Given the description of an element on the screen output the (x, y) to click on. 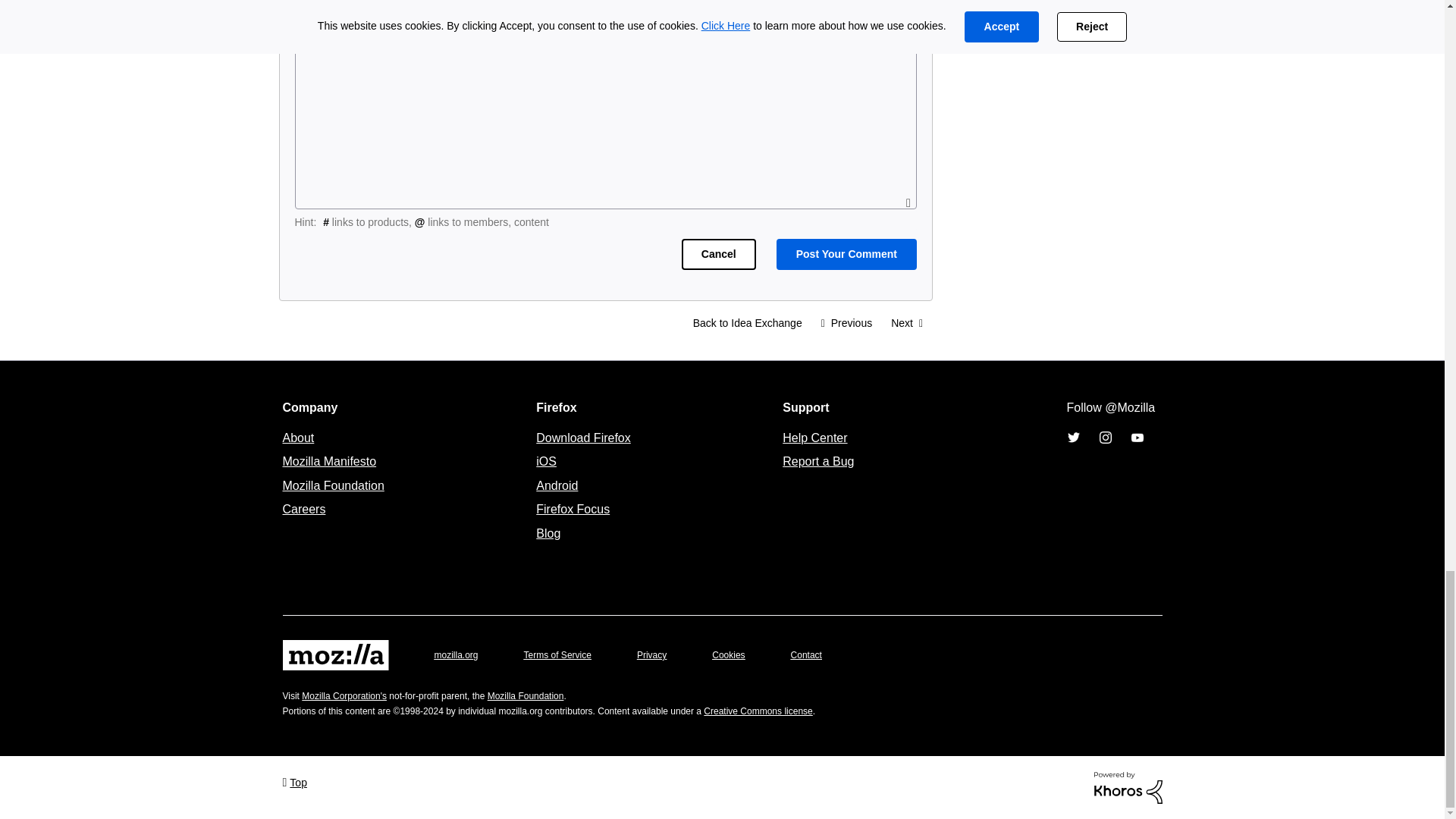
Top (293, 781)
Post Your Comment (846, 254)
Cancel (718, 254)
Top (293, 781)
